Given the description of an element on the screen output the (x, y) to click on. 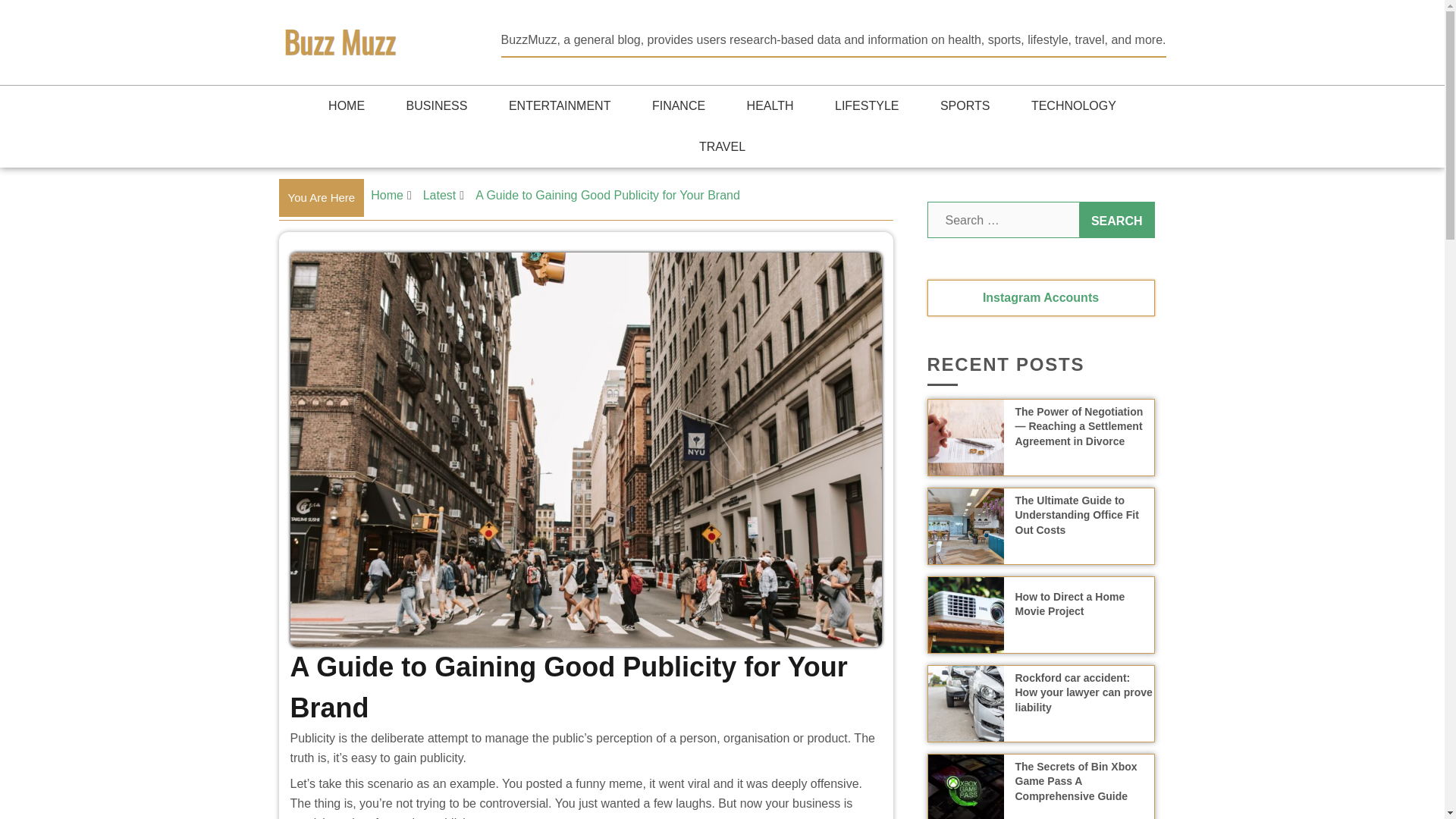
HOME (346, 105)
Home (387, 195)
Search (1116, 219)
The Ultimate Guide to Understanding Office Fit Out Costs (1076, 514)
TRAVEL (722, 146)
Search (1116, 219)
BUSINESS (436, 105)
Latest (440, 195)
TECHNOLOGY (1073, 105)
Rockford car accident: How your lawyer can prove liability (1082, 691)
Instagram Accounts (1040, 297)
LIFESTYLE (867, 105)
FINANCE (678, 105)
A Guide to Gaining Good Publicity for Your Brand (607, 195)
HEALTH (770, 105)
